Given the description of an element on the screen output the (x, y) to click on. 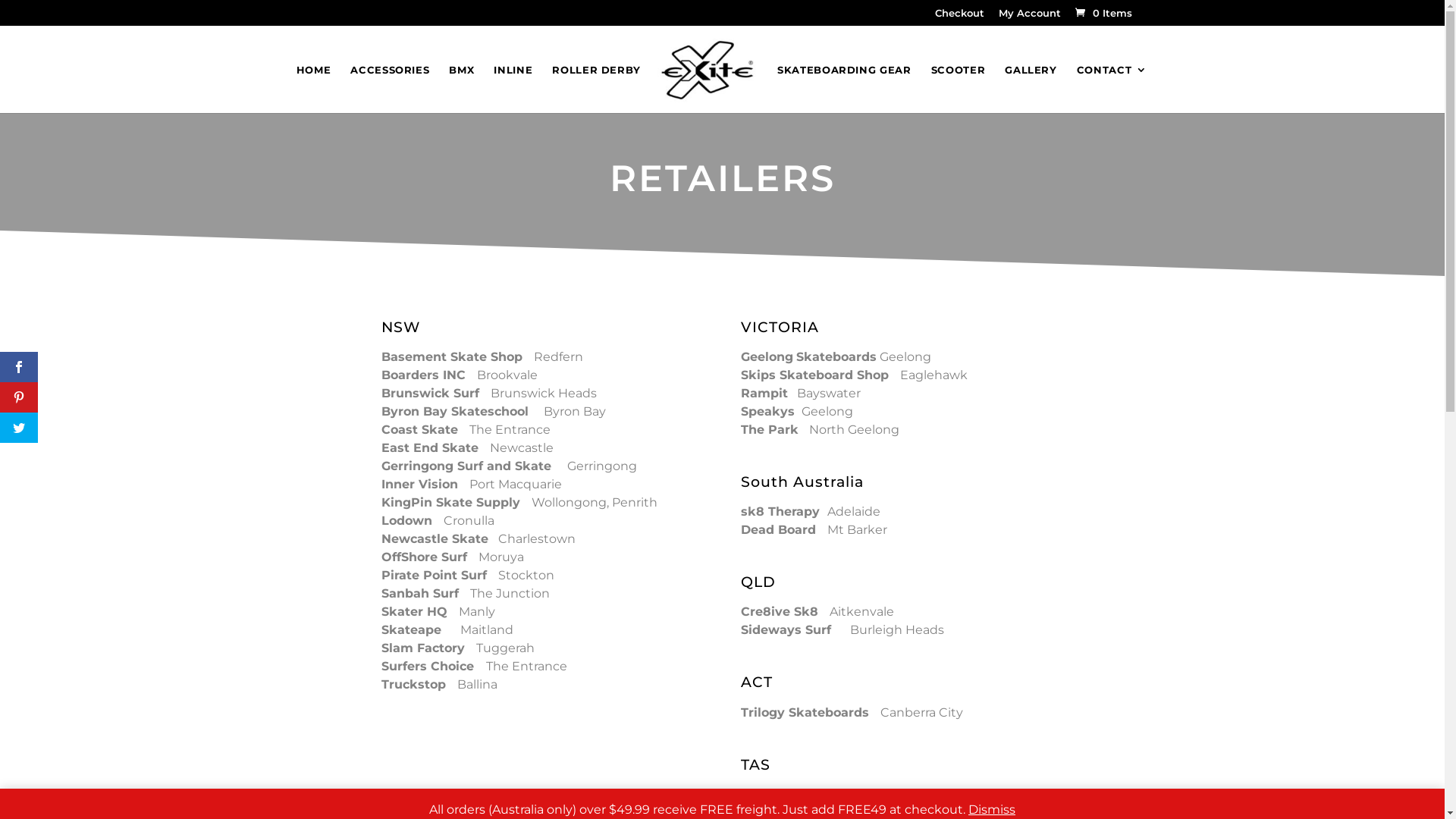
SCOOTER Element type: text (958, 87)
INLINE Element type: text (512, 87)
GALLERY Element type: text (1030, 87)
0 Items Element type: text (1102, 12)
SKATEBOARDING GEAR Element type: text (844, 87)
Checkout Element type: text (958, 16)
CONTACT Element type: text (1111, 87)
ROLLER DERBY Element type: text (596, 87)
My Account Element type: text (1028, 16)
HOME Element type: text (313, 87)
ACCESSORIES Element type: text (389, 87)
BMX Element type: text (460, 87)
Dismiss Element type: text (991, 809)
